Given the description of an element on the screen output the (x, y) to click on. 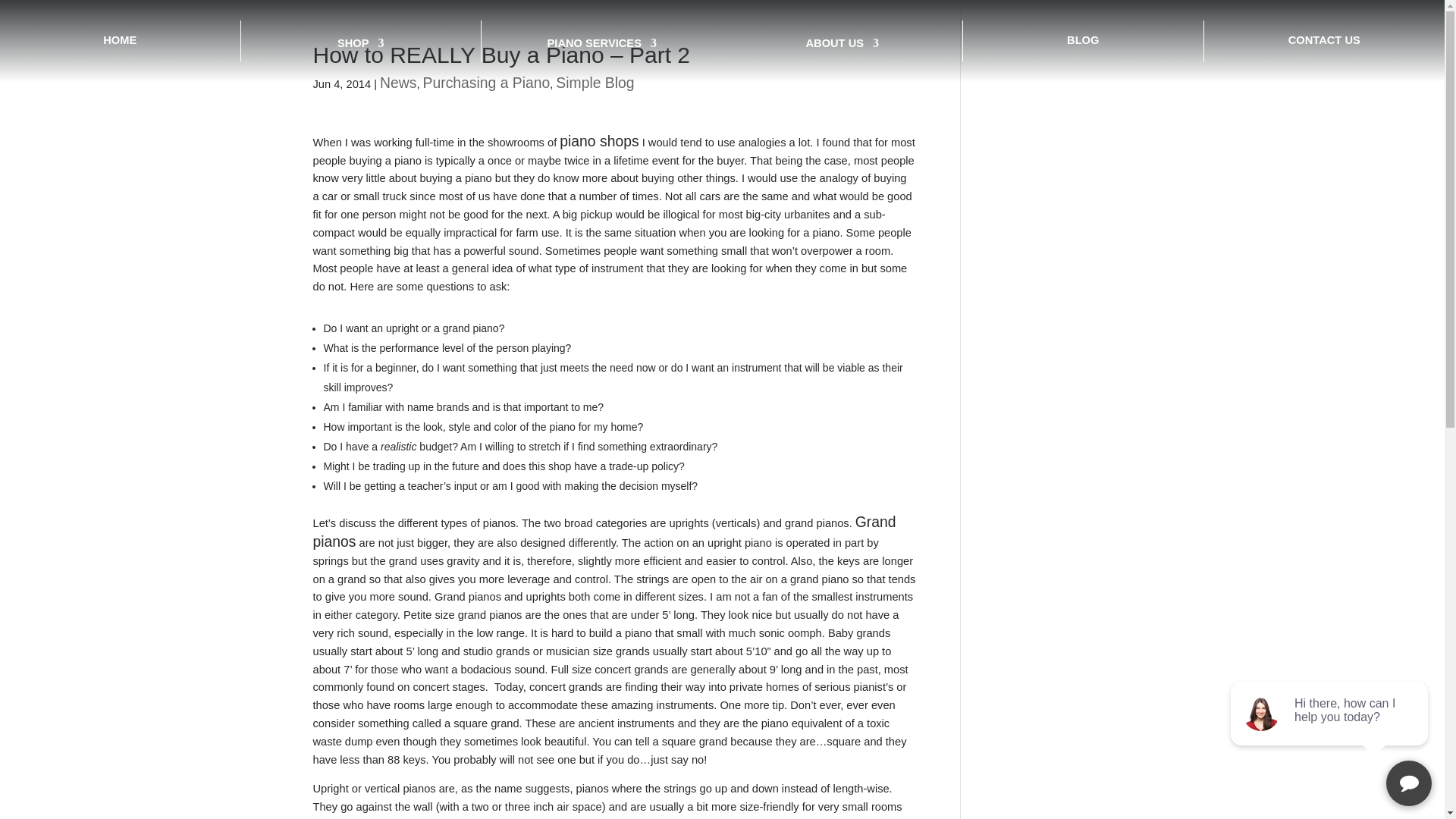
SHOP (360, 45)
PIANO SERVICES (601, 45)
